Given the description of an element on the screen output the (x, y) to click on. 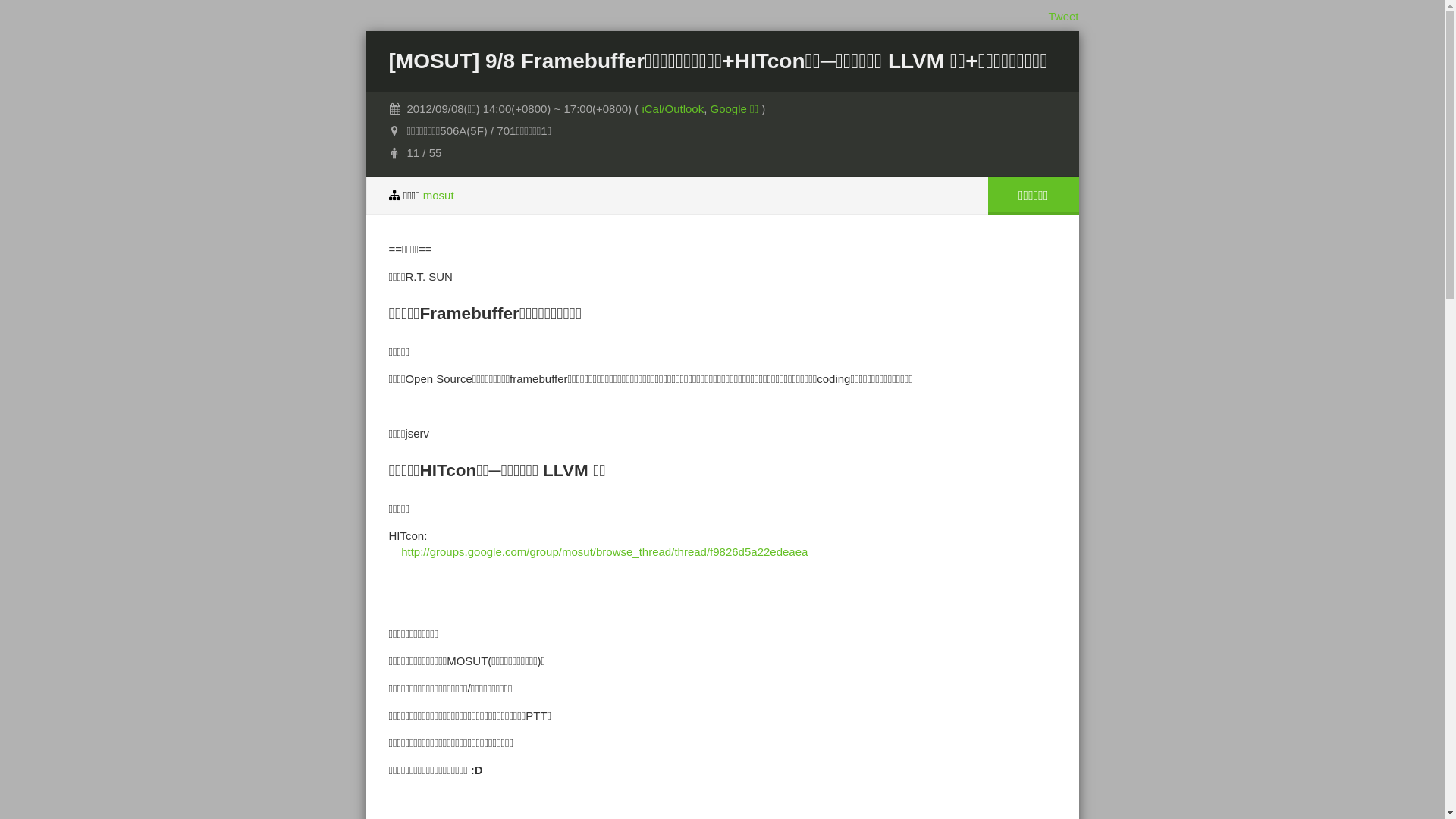
Tweet Element type: text (1063, 15)
mosut Element type: text (438, 194)
iCal/Outlook Element type: text (672, 108)
